Given the description of an element on the screen output the (x, y) to click on. 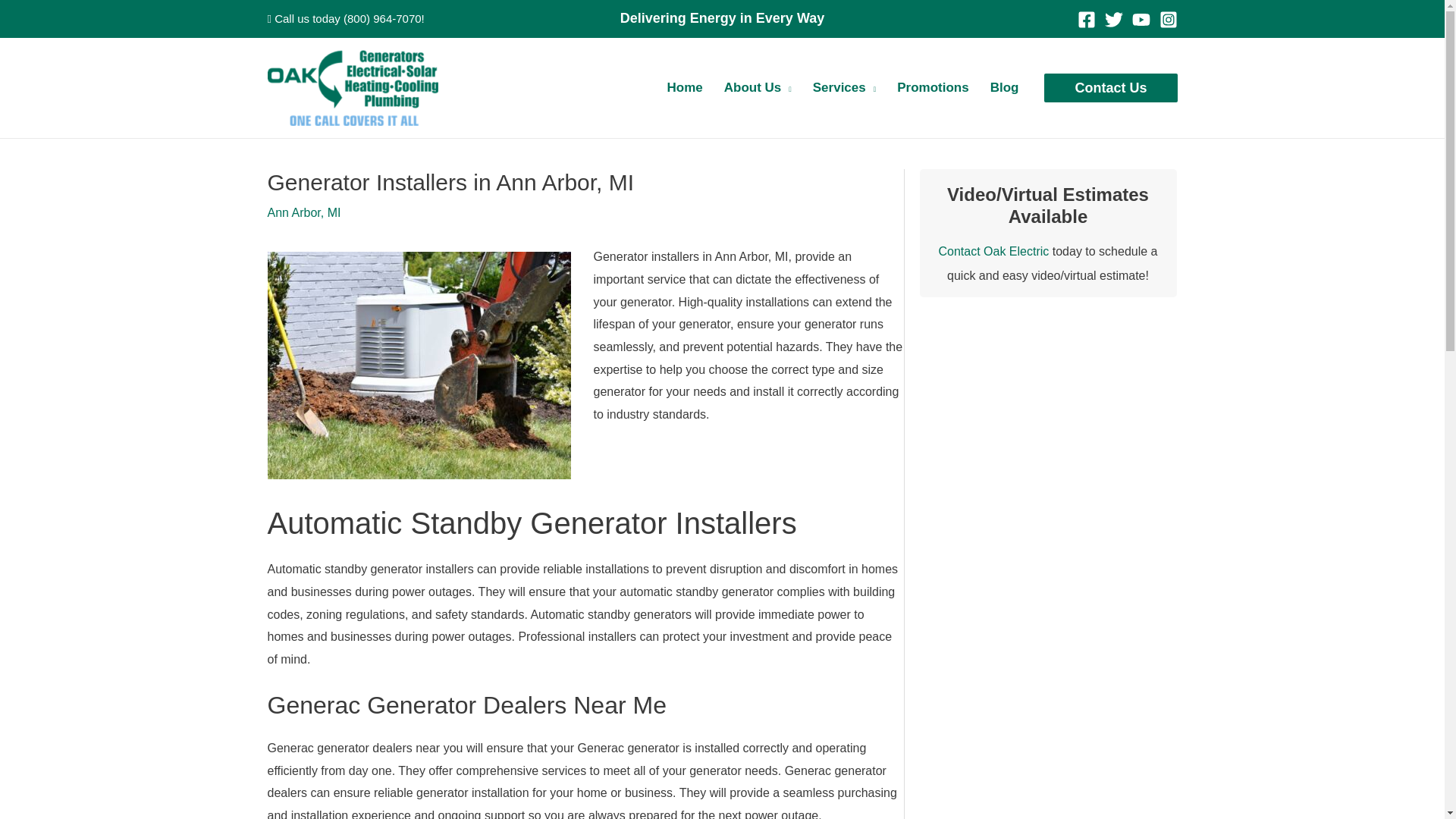
Services (844, 87)
About Us (757, 87)
Home (684, 87)
